Given the description of an element on the screen output the (x, y) to click on. 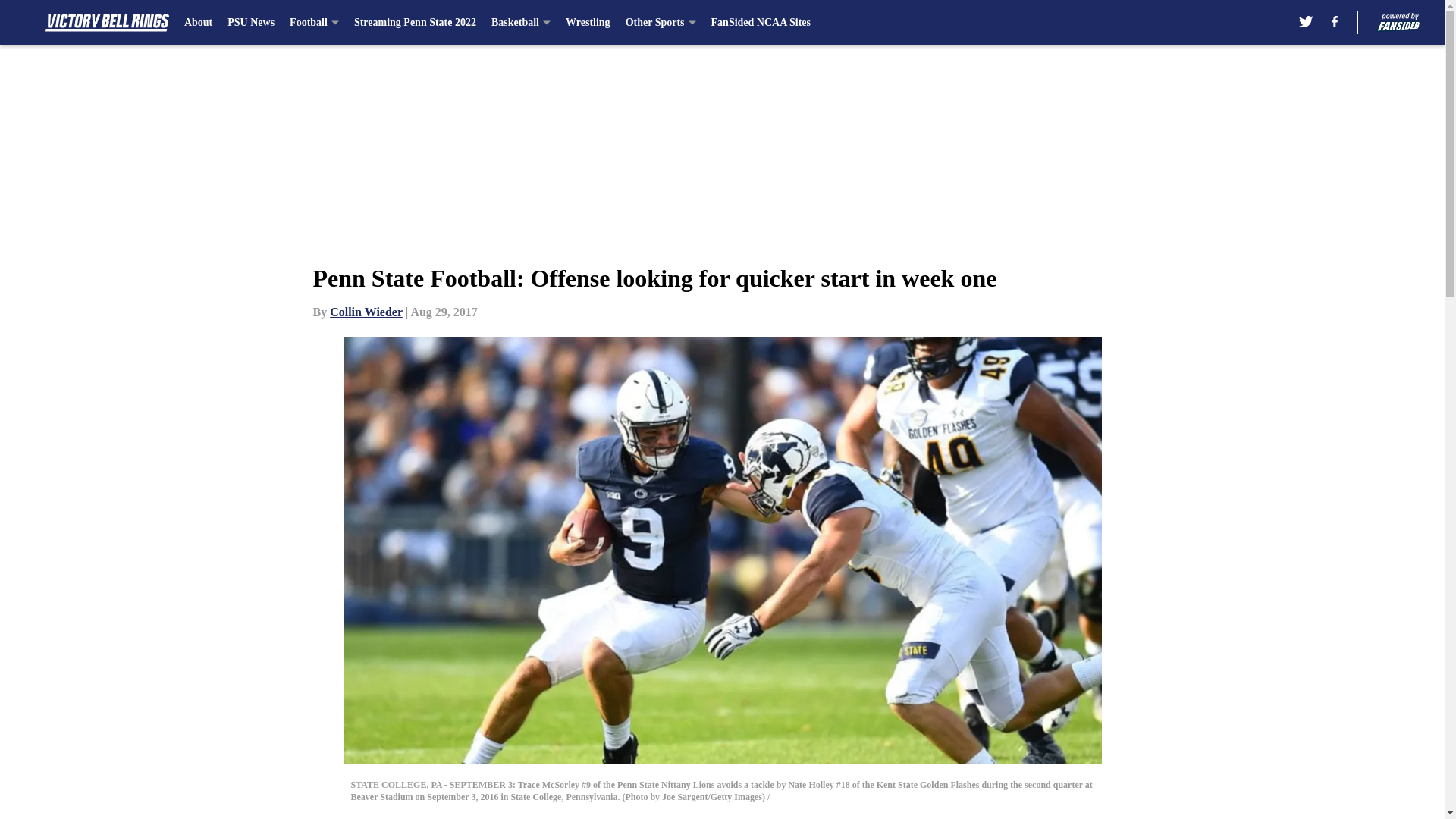
Streaming Penn State 2022 (414, 22)
Collin Wieder (366, 311)
PSU News (251, 22)
FanSided NCAA Sites (760, 22)
About (198, 22)
Wrestling (588, 22)
